Given the description of an element on the screen output the (x, y) to click on. 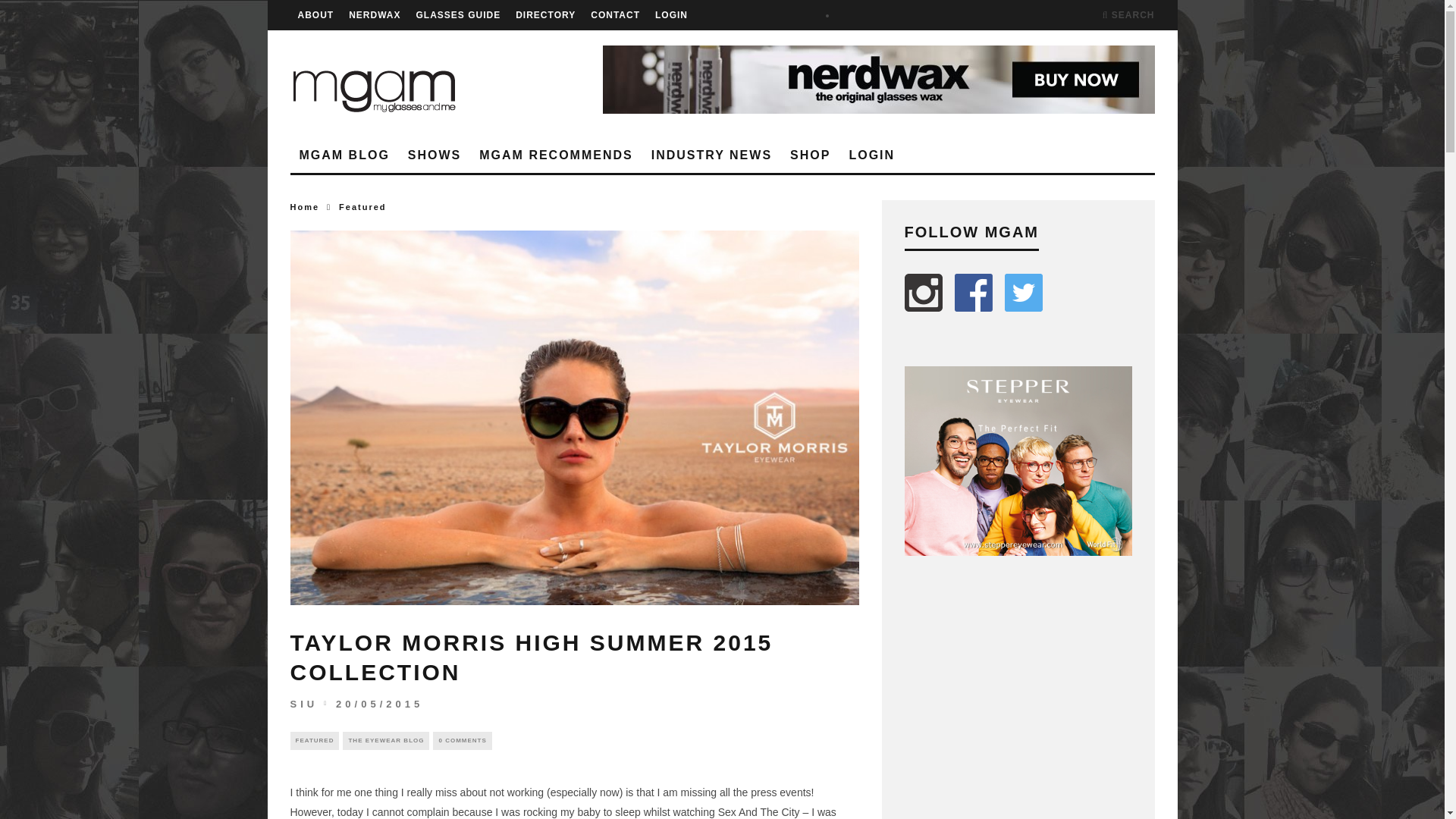
View all posts in The Eyewear Blog (385, 741)
ABOUT (315, 15)
Search (1128, 15)
Login (872, 155)
SEARCH (1128, 15)
CONTACT (615, 15)
Advertisement (1017, 697)
Login (671, 15)
SHOWS (434, 155)
View all posts in Featured (362, 206)
